Given the description of an element on the screen output the (x, y) to click on. 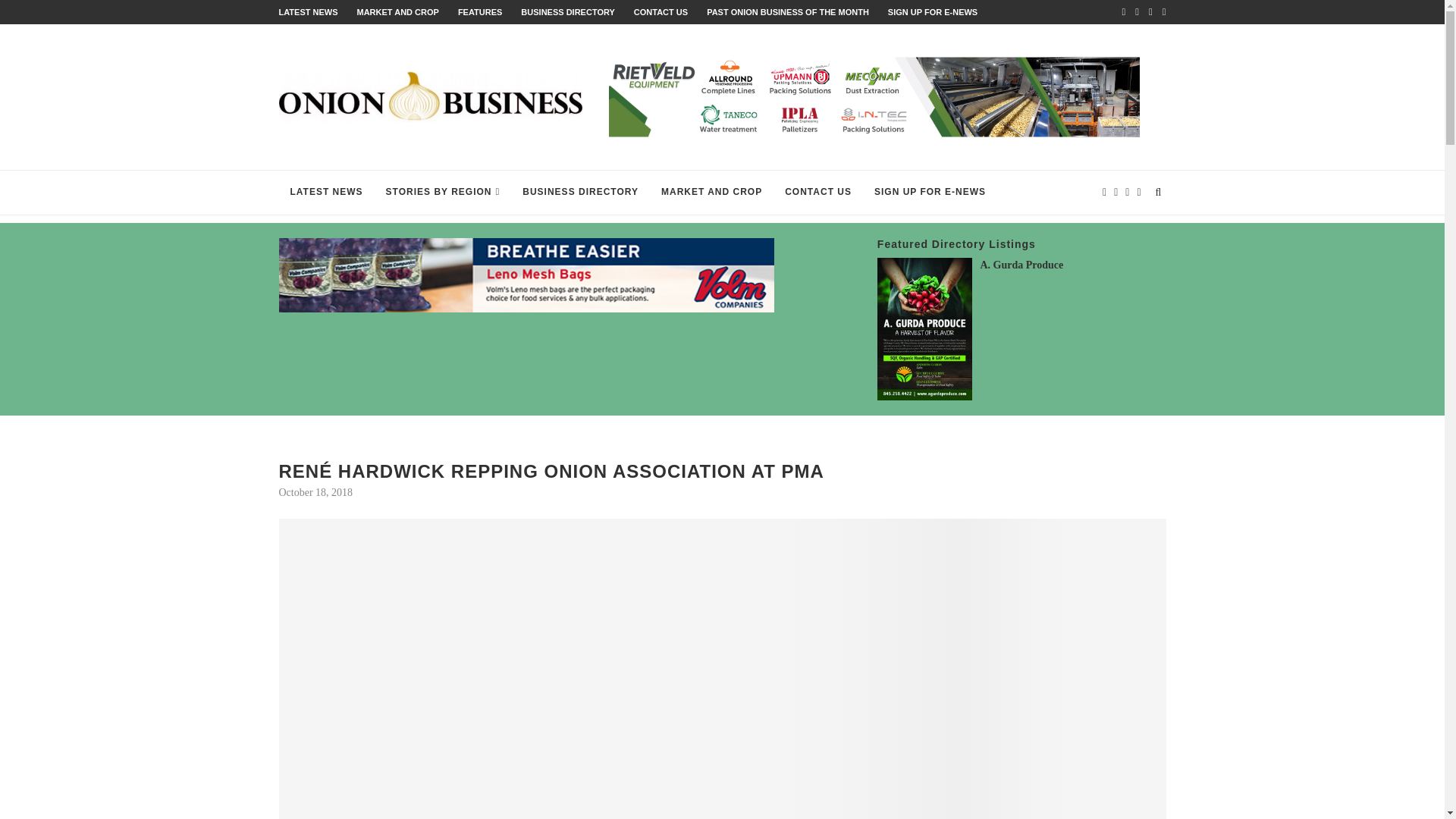
FEATURES (480, 11)
MARKET AND CROP (397, 11)
SIGN UP FOR E-NEWS (932, 11)
LATEST NEWS (308, 11)
BUSINESS DIRECTORY (567, 11)
CONTACT US (660, 11)
PAST ONION BUSINESS OF THE MONTH (787, 11)
